Given the description of an element on the screen output the (x, y) to click on. 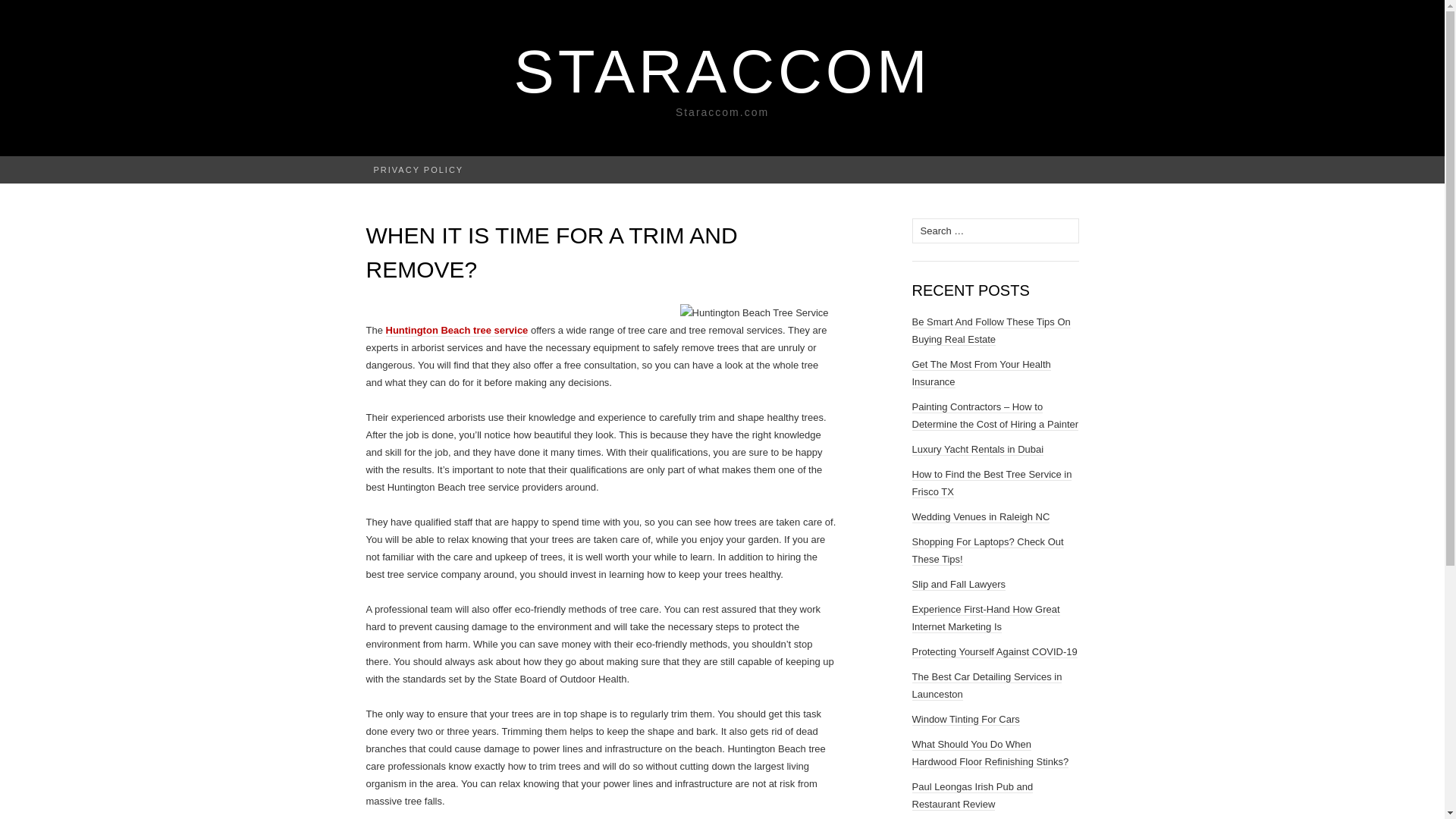
How to Find the Best Tree Service in Frisco TX (991, 482)
Be Smart And Follow These Tips On Buying Real Estate (990, 330)
Huntington Beach tree service (456, 330)
PRIVACY POLICY (418, 169)
Wedding Venues in Raleigh NC (980, 517)
Get The Most From Your Health Insurance (980, 373)
STARACCOM (721, 71)
Search (39, 12)
Slip and Fall Lawyers (958, 584)
Luxury Yacht Rentals in Dubai (977, 449)
